Given the description of an element on the screen output the (x, y) to click on. 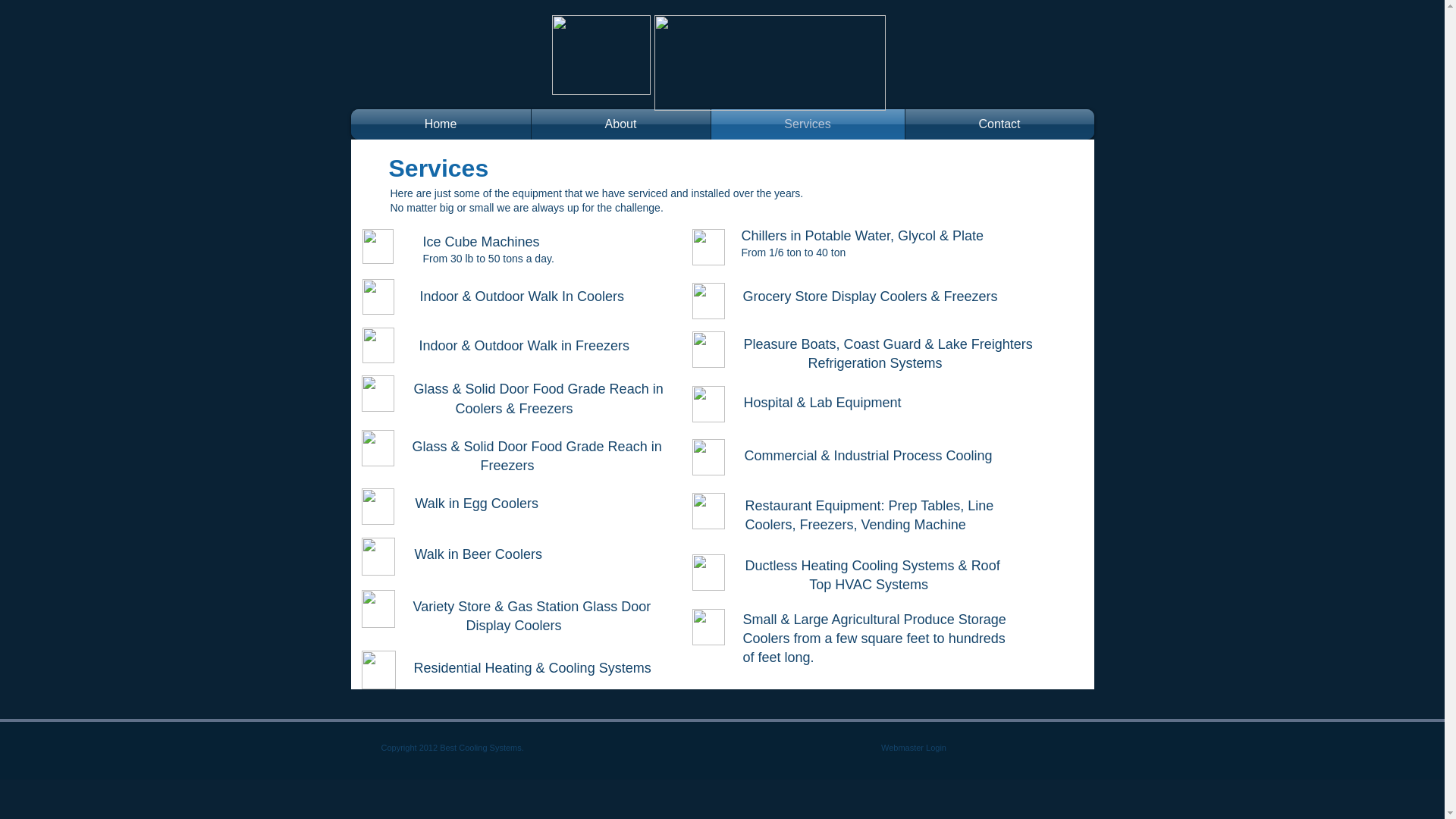
Home Element type: text (440, 124)
Services Element type: text (807, 124)
About Element type: text (619, 124)
Webmaster Login Element type: text (913, 748)
Contact Element type: text (999, 124)
